Given the description of an element on the screen output the (x, y) to click on. 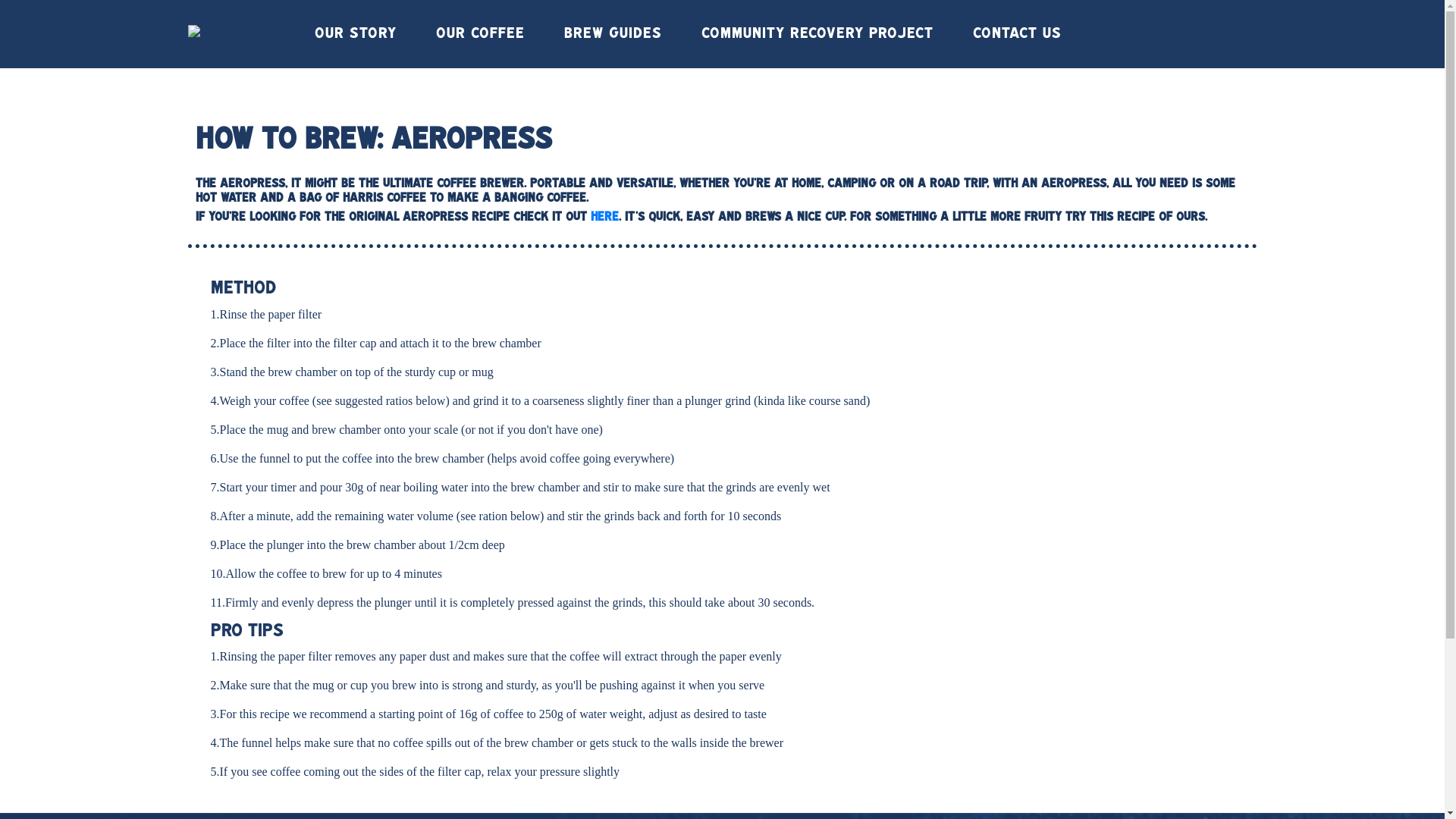
BREW GUIDES Element type: text (612, 34)
OUR COFFEE Element type: text (479, 34)
OUR STORY Element type: text (354, 34)
CONTACT US Element type: text (1016, 34)
COMMUNITY RECOVERY PROJECT Element type: text (816, 34)
here Element type: text (603, 217)
